Given the description of an element on the screen output the (x, y) to click on. 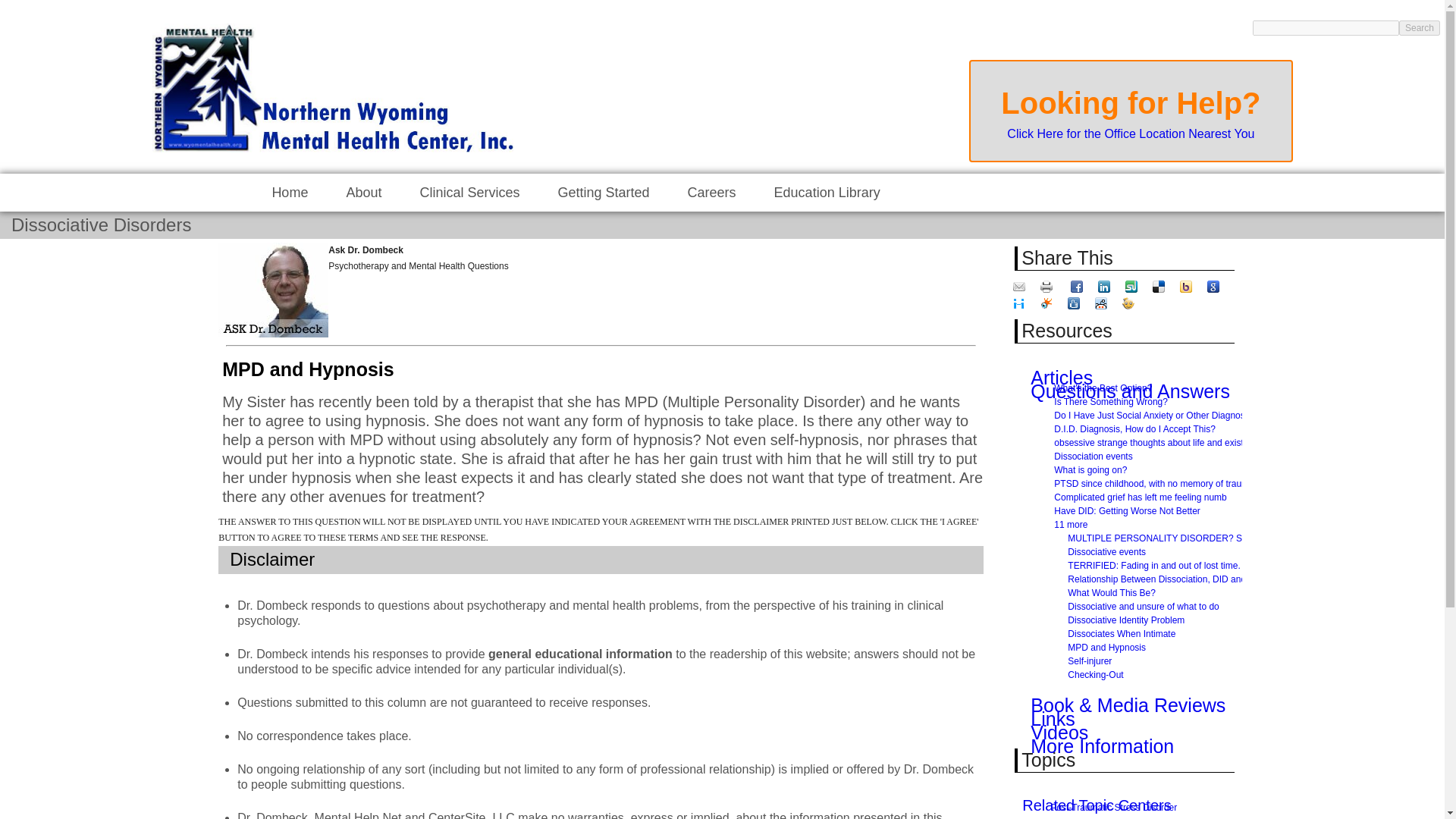
stumbleupon (1132, 286)
Dissociative Disorders (100, 224)
Click Here for the Office Location Nearest You (1130, 133)
linkedin (1105, 286)
About (363, 192)
Search (1419, 28)
facebook (1077, 286)
Search (1419, 28)
print (1048, 286)
email (1020, 286)
Clinical Services (469, 192)
Home (289, 192)
